Given the description of an element on the screen output the (x, y) to click on. 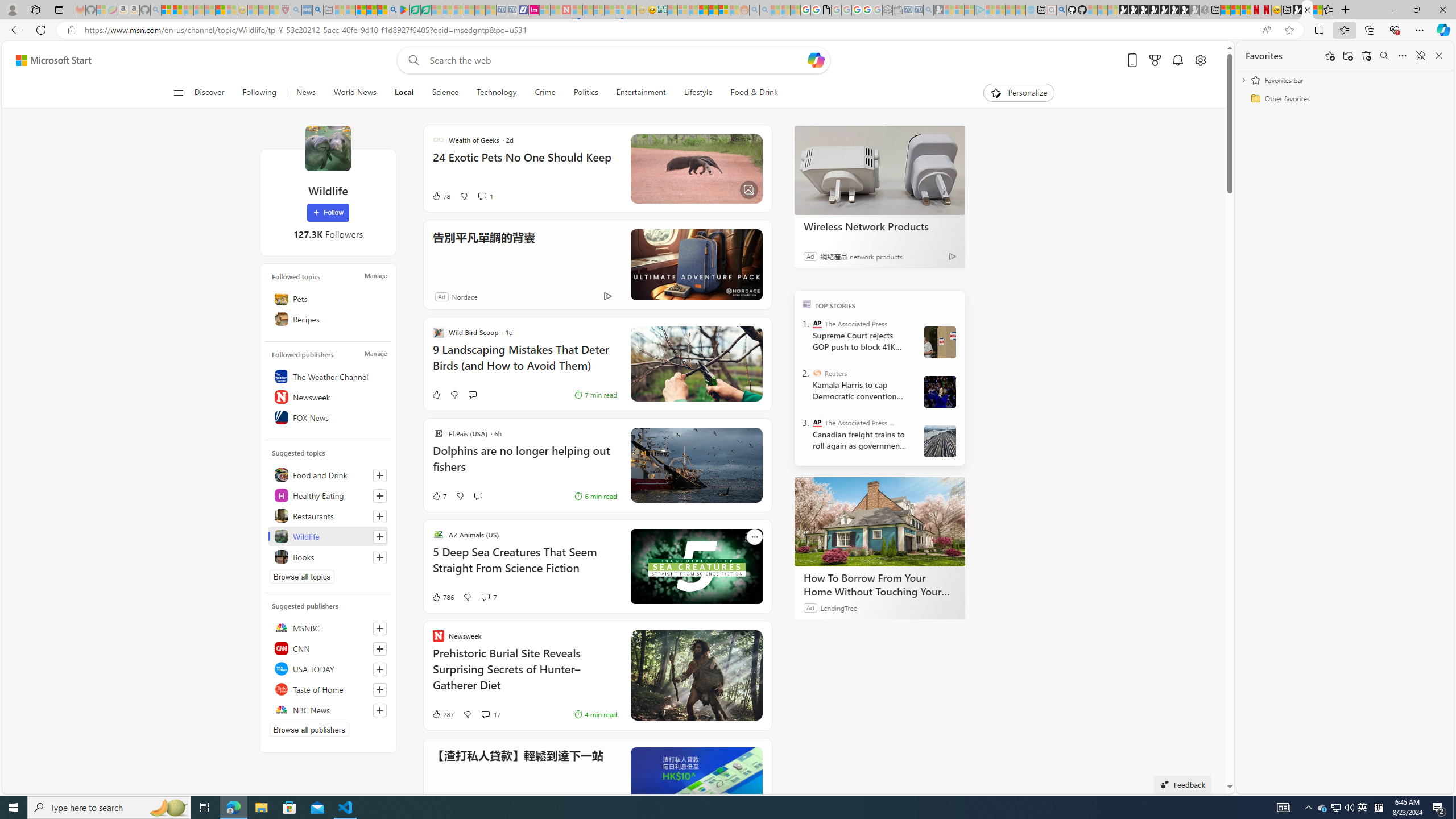
 Harris and Walz campaign in Wisconsin (940, 391)
Add this page to favorites (1330, 55)
Reuters (816, 372)
